Given the description of an element on the screen output the (x, y) to click on. 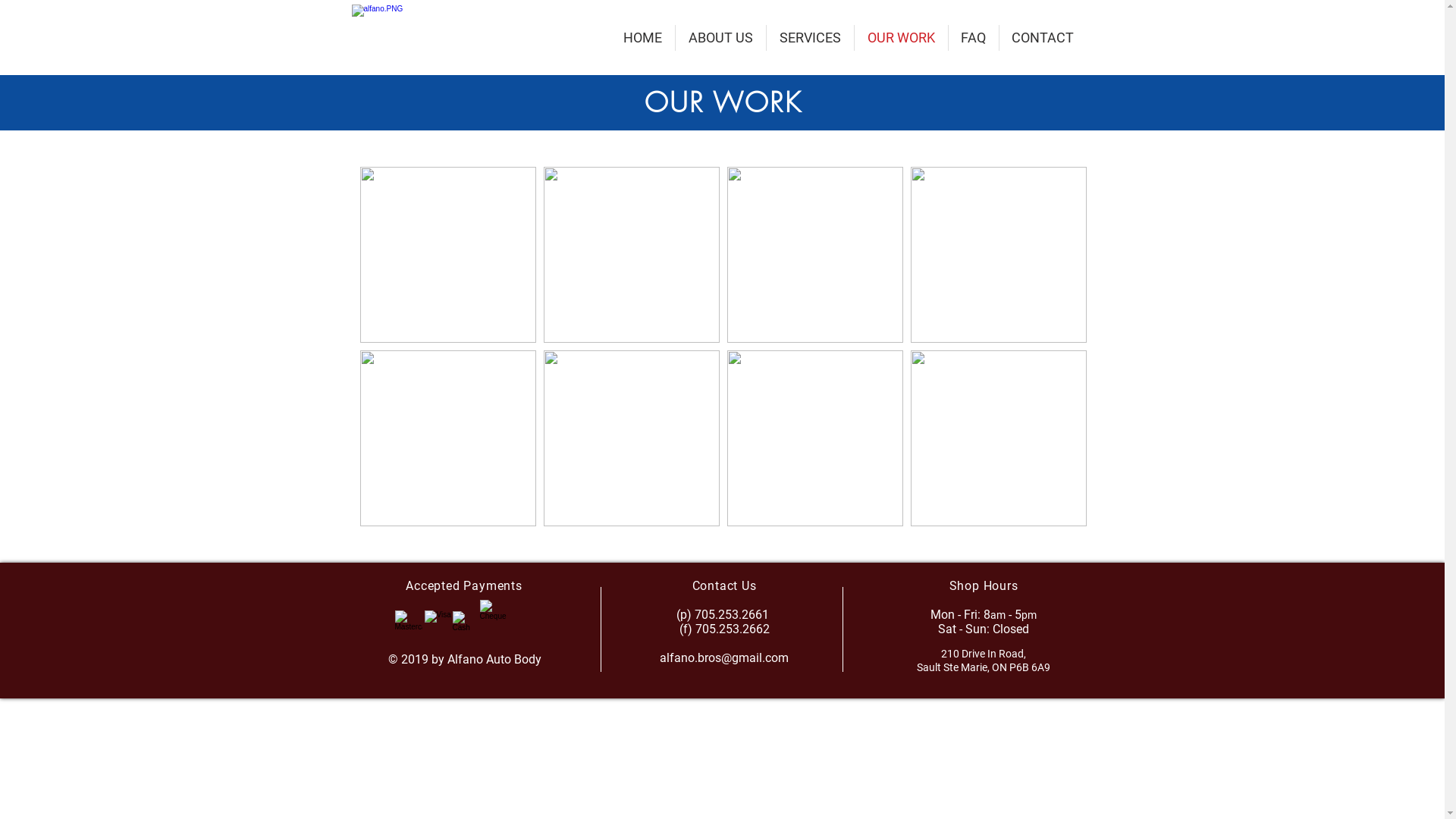
alfano.bros@gmail.com Element type: text (723, 657)
MasterCard Element type: hover (407, 623)
Cheque Element type: hover (496, 616)
ABOUT US Element type: text (719, 37)
Cash Element type: hover (463, 623)
CONTACT Element type: text (1042, 37)
Visa Element type: hover (437, 623)
FAQ Element type: text (972, 37)
705.253.2661  Element type: text (732, 614)
OUR WORK Element type: text (900, 37)
HOME Element type: text (641, 37)
SERVICES Element type: text (809, 37)
